Given the description of an element on the screen output the (x, y) to click on. 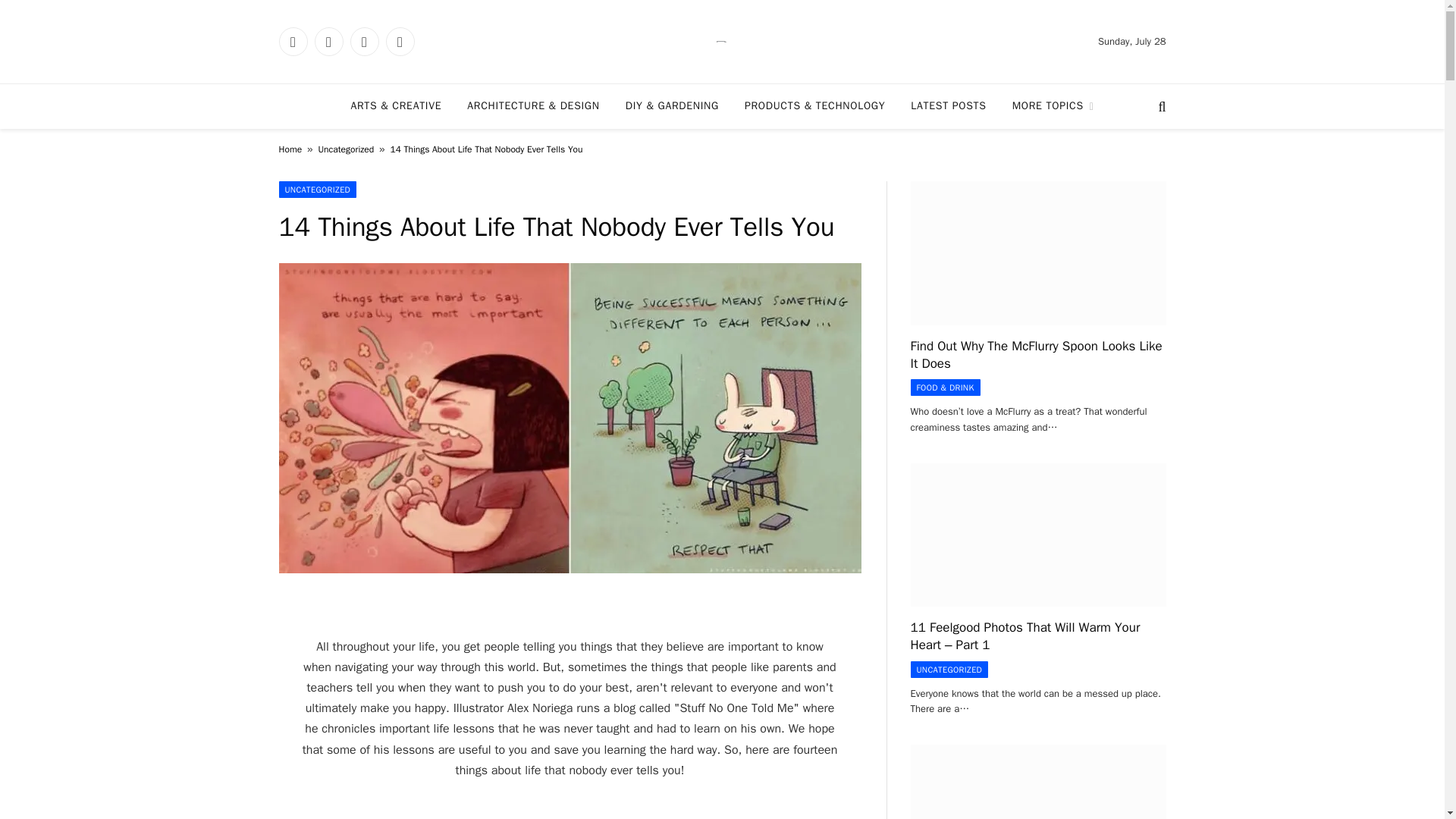
Instagram (364, 41)
MORE TOPICS (1052, 106)
UNCATEGORIZED (317, 189)
Awesome Inventions (722, 41)
Home (290, 149)
Search (1160, 106)
Latest Posts (948, 106)
LATEST POSTS (948, 106)
Facebook (293, 41)
Uncategorized (345, 149)
Pinterest (399, 41)
